Given the description of an element on the screen output the (x, y) to click on. 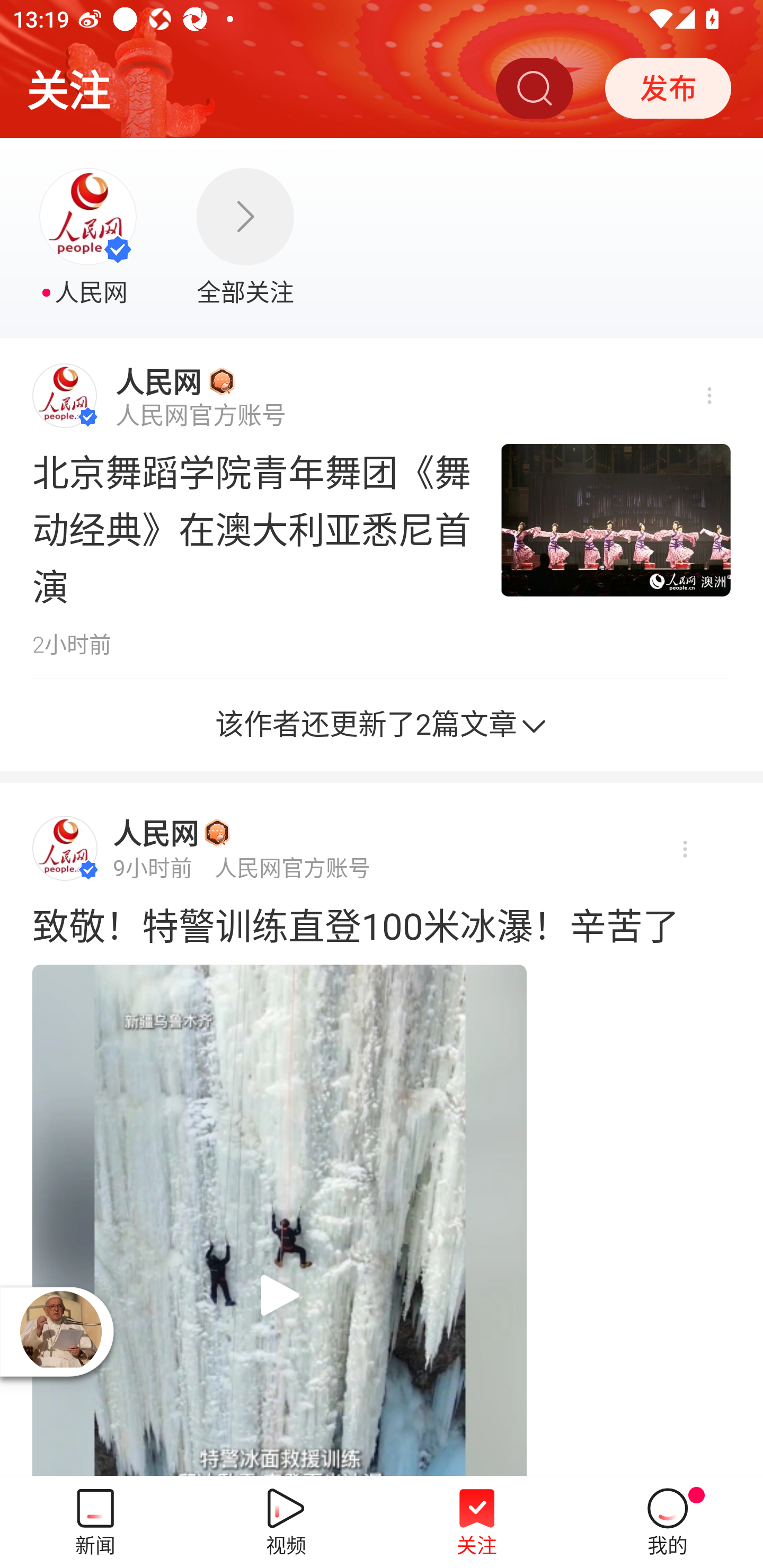
搜索 关注 (534, 87)
发布 关注 (667, 87)
关注 (67, 87)
人民网，可点击 (90, 237)
全部关注，可点击 (244, 237)
人民网 (158, 381)
勋章 (221, 380)
 不感兴趣 (707, 395)
人民网官方账号 (200, 415)
该作者还更新了2篇文章  (381, 724)
人民网 (155, 832)
勋章 (216, 832)
 不感兴趣 (683, 848)
9小时前　人民网官方账号 (241, 867)
致敬！特警训练直登100米冰瀑！辛苦了 (381, 923)
播放器 (60, 1331)
